Given the description of an element on the screen output the (x, y) to click on. 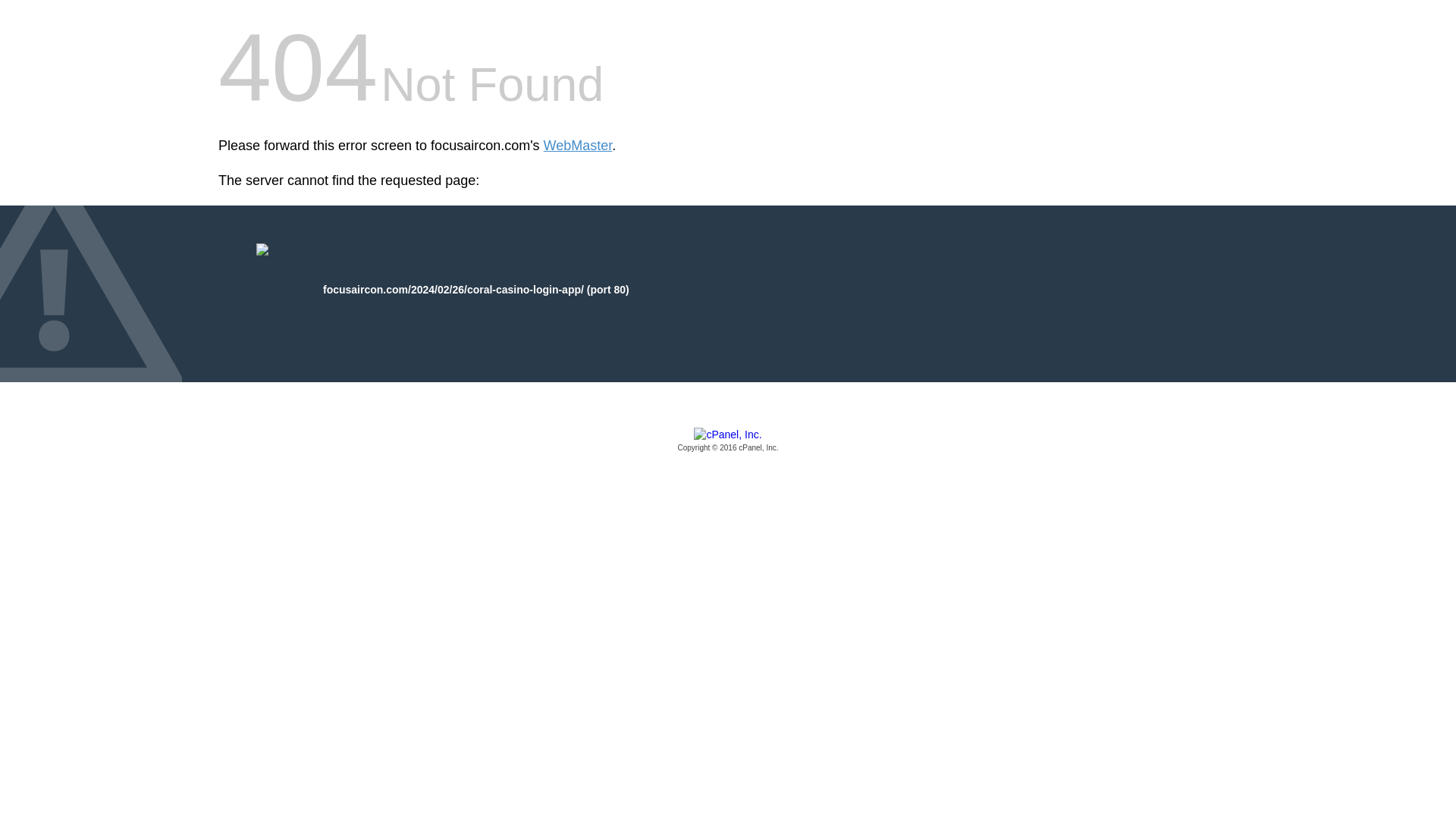
WebMaster (577, 145)
cPanel, Inc. (727, 440)
